Given the description of an element on the screen output the (x, y) to click on. 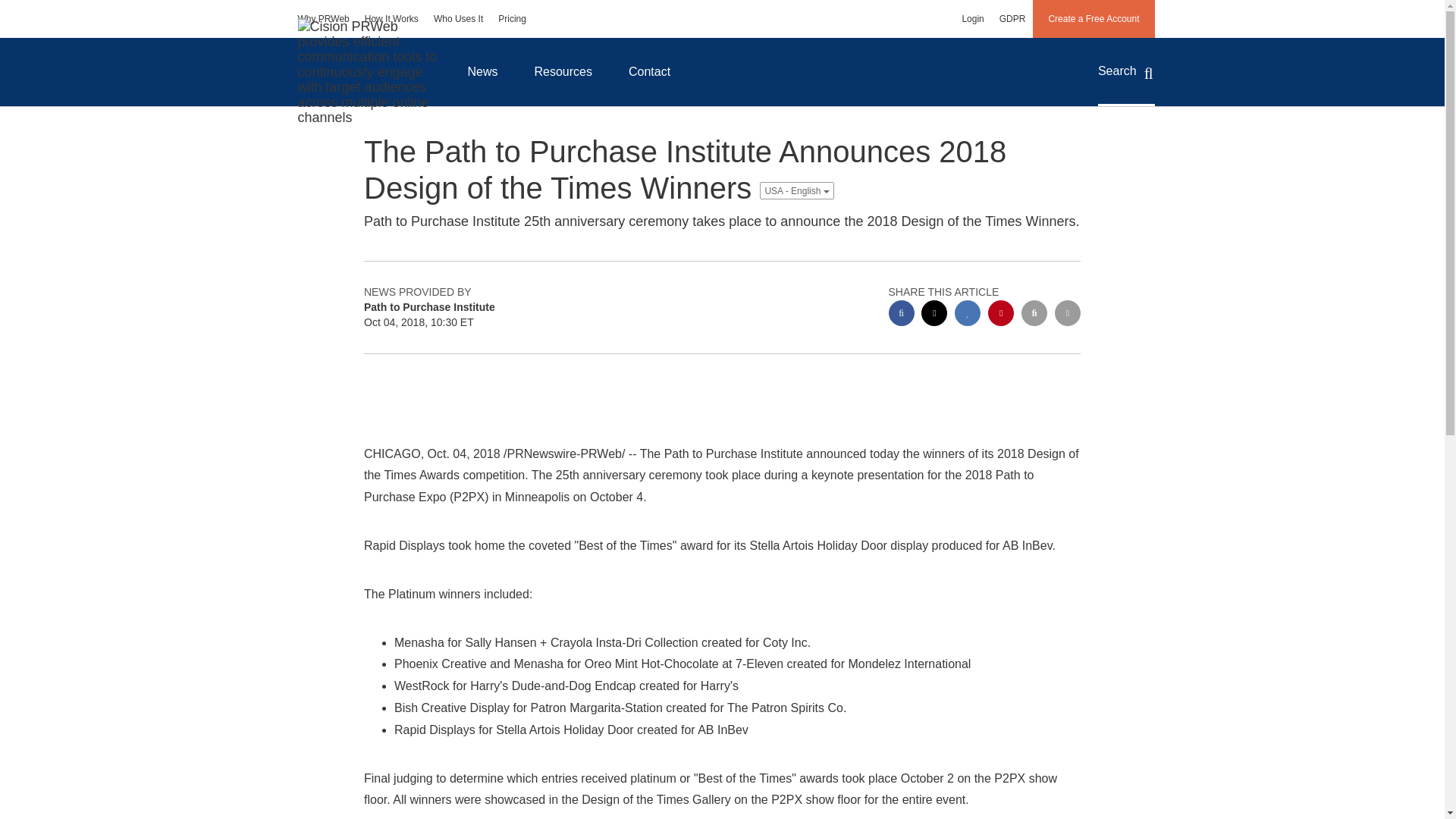
Who Uses It (458, 18)
Login (972, 18)
Contact (649, 71)
How It Works (391, 18)
Why PRWeb (322, 18)
Create a Free Account (1093, 18)
Resources (563, 71)
News (481, 71)
Pricing (512, 18)
GDPR (1012, 18)
